Given the description of an element on the screen output the (x, y) to click on. 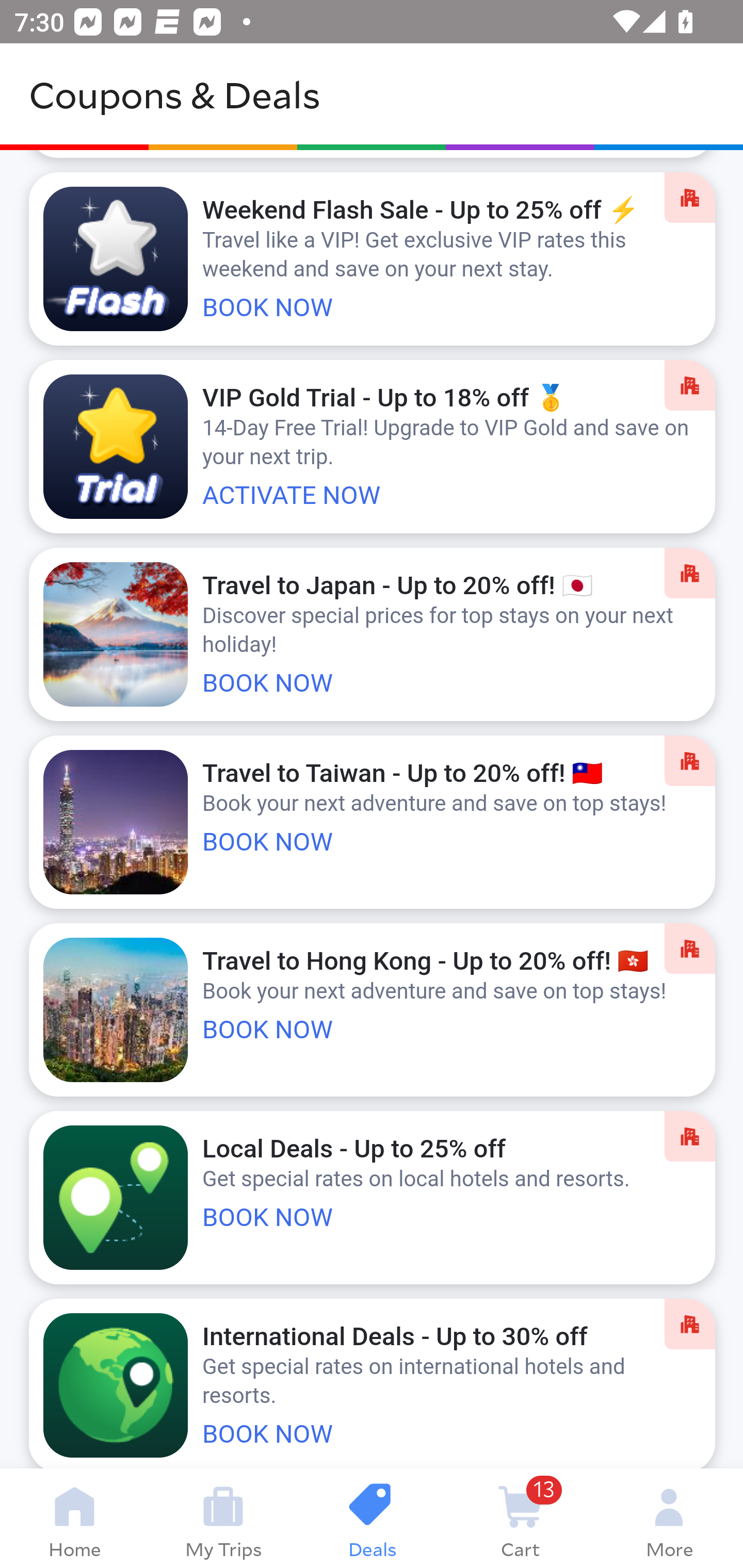
Home (74, 1518)
My Trips (222, 1518)
Deals (371, 1518)
13 Cart (519, 1518)
More (668, 1518)
